Given the description of an element on the screen output the (x, y) to click on. 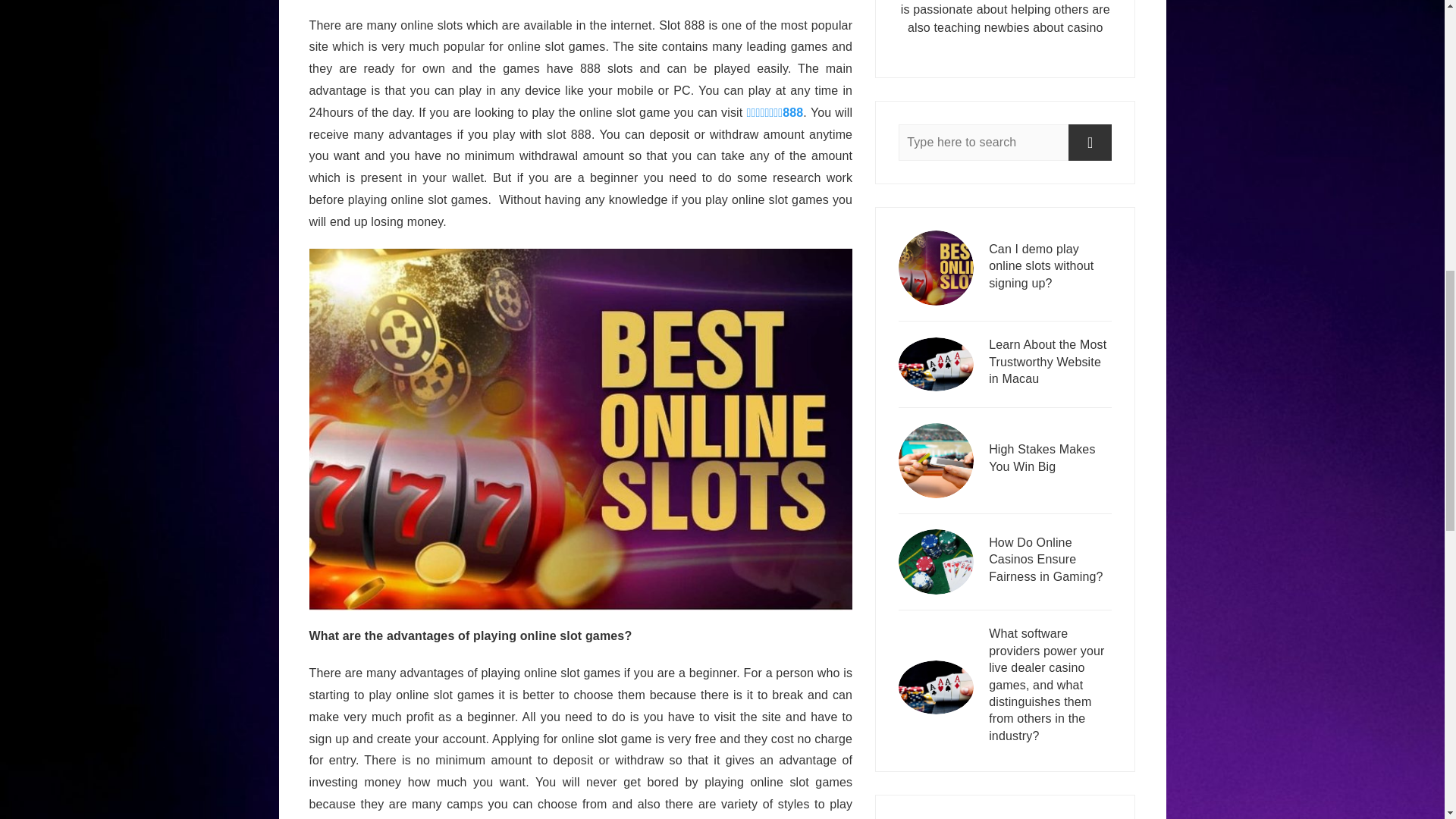
Learn About the Most Trustworthy Website in Macau (1050, 363)
How Do Online Casinos Ensure Fairness in Gaming? (1050, 561)
High Stakes Makes You Win Big (1050, 460)
Can I demo play online slots without signing up? (1050, 267)
